Given the description of an element on the screen output the (x, y) to click on. 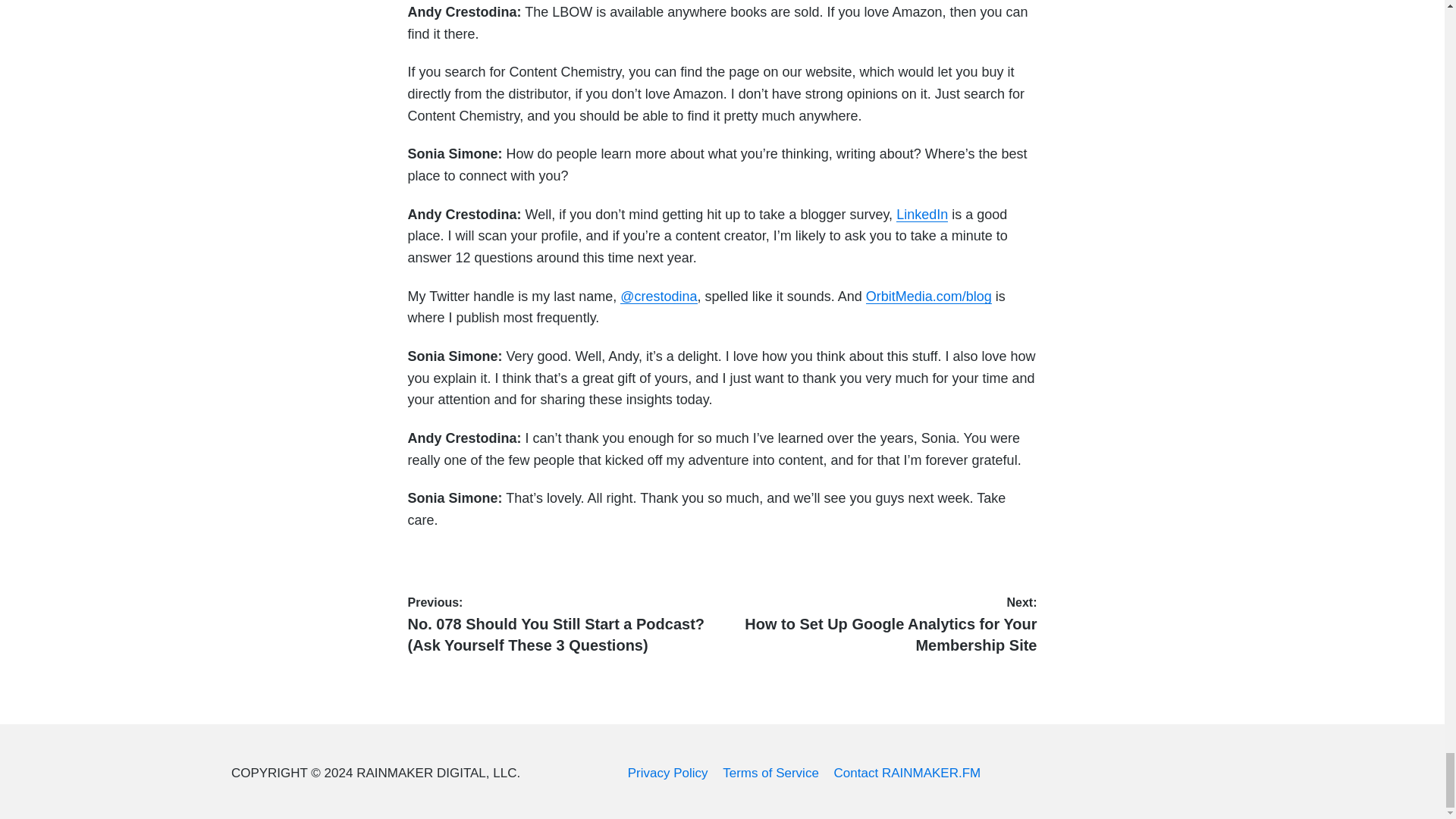
Privacy Policy (667, 772)
LinkedIn (921, 214)
